Given the description of an element on the screen output the (x, y) to click on. 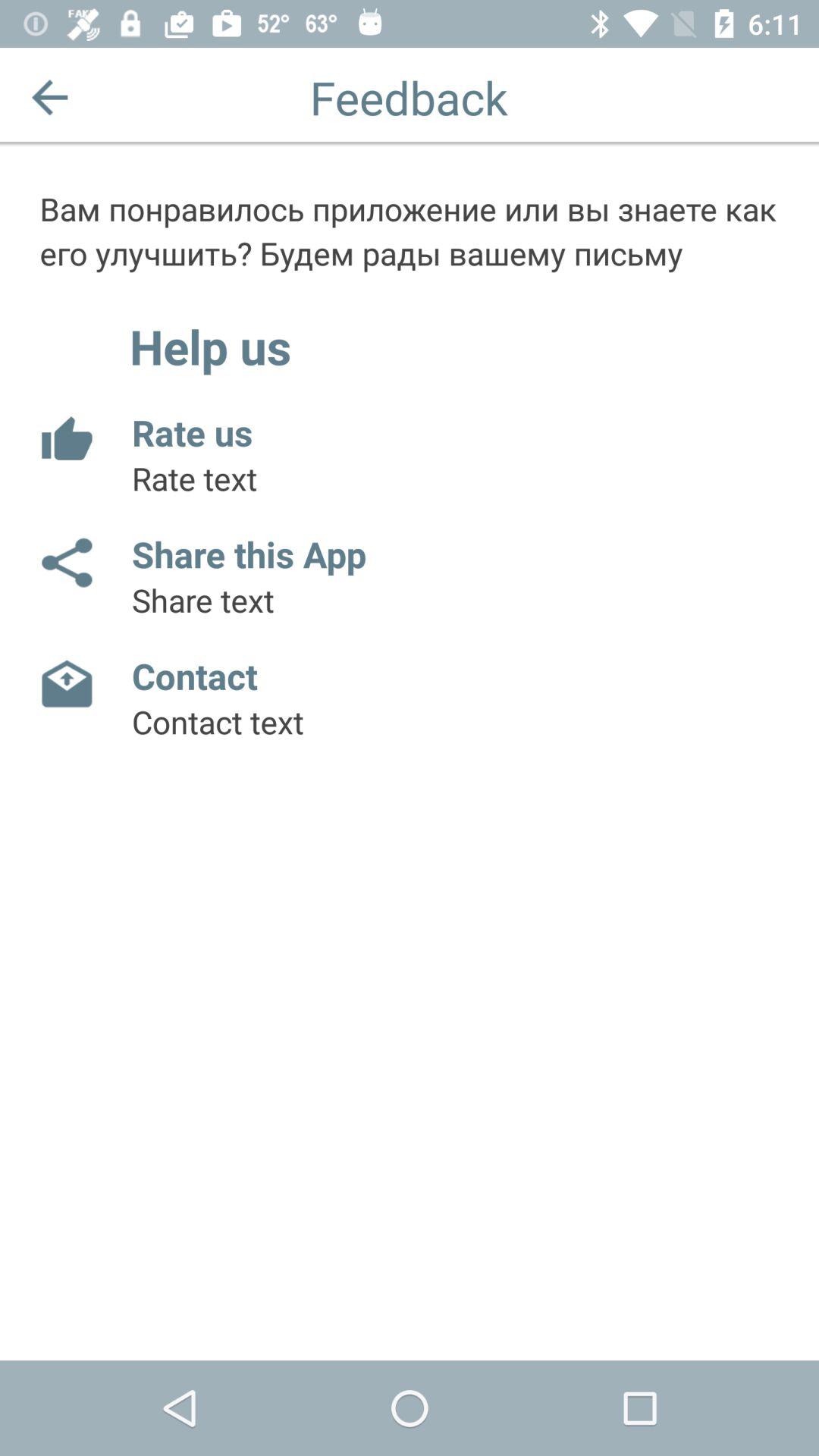
turn on icon to the left of contact icon (65, 684)
